Given the description of an element on the screen output the (x, y) to click on. 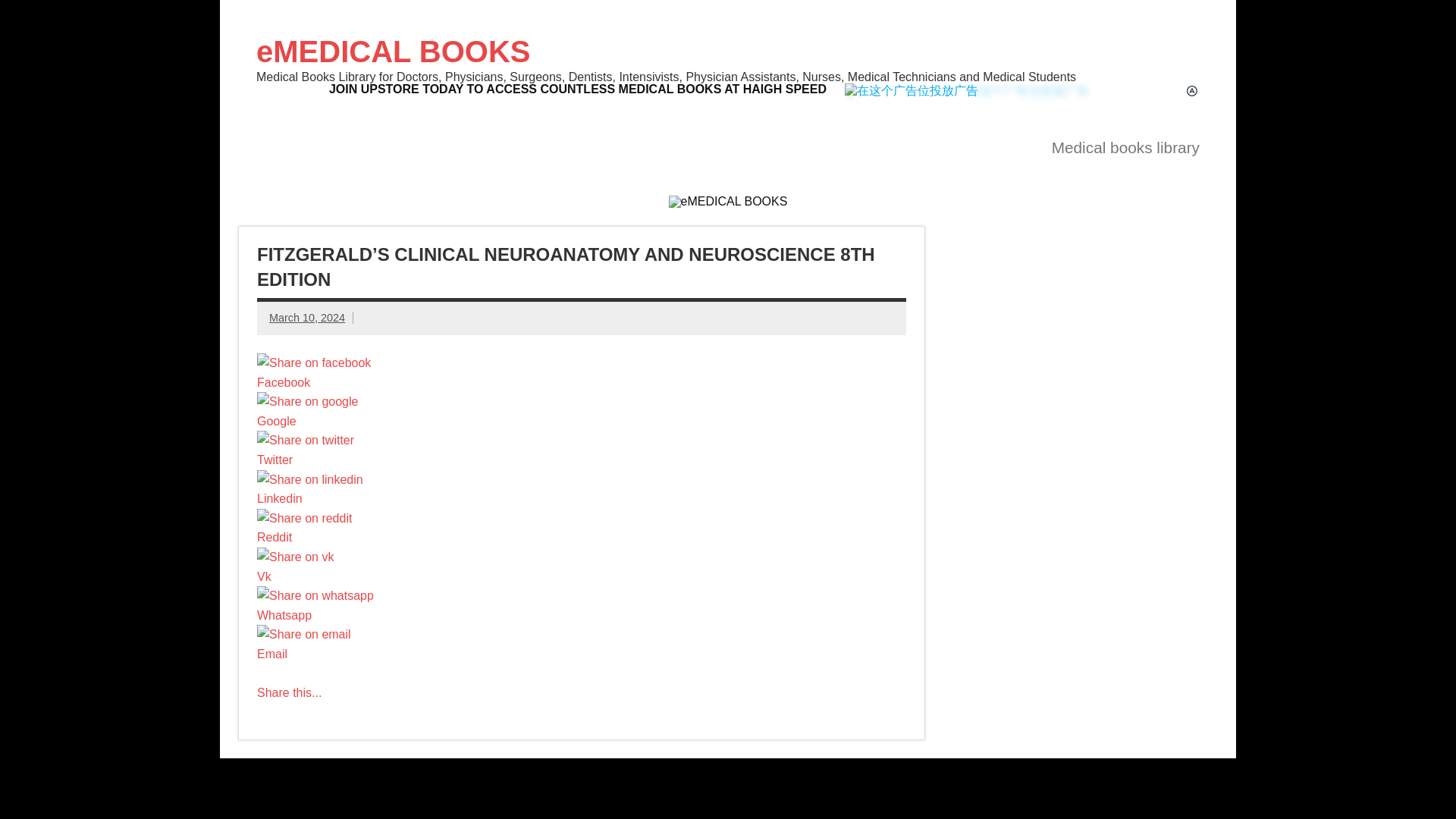
Reddit (315, 537)
Vk (315, 577)
Whatsapp (315, 614)
March 10, 2024 (307, 317)
Linkedin (315, 498)
Facebook (315, 381)
linkedin (309, 479)
11:45 pm (307, 317)
Share this... (289, 692)
facebook (314, 362)
